Given the description of an element on the screen output the (x, y) to click on. 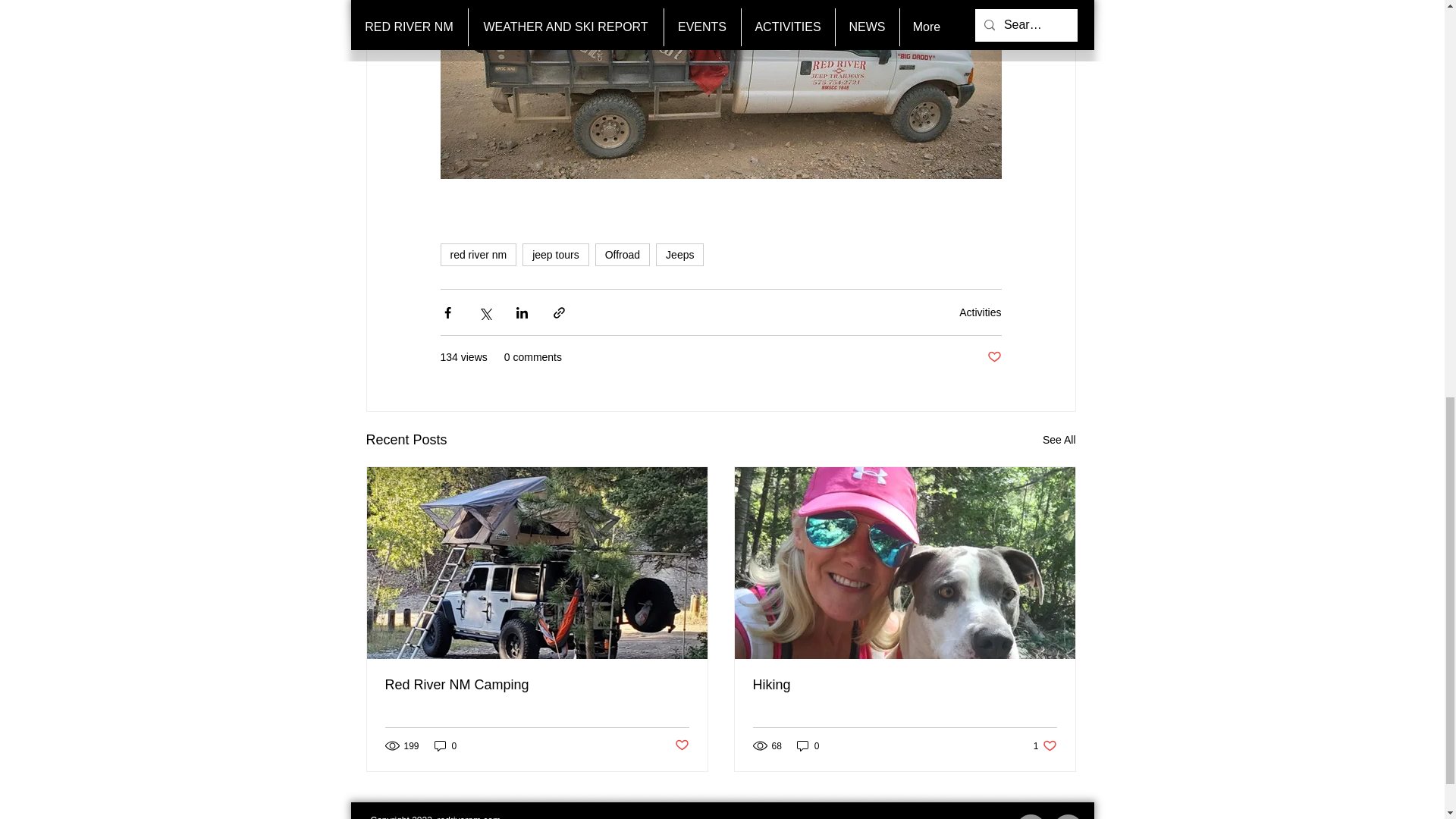
Activities (1045, 745)
Offroad (980, 312)
Post not marked as liked (622, 254)
See All (994, 357)
0 (1058, 440)
Post not marked as liked (807, 745)
Hiking (681, 745)
Red River NM Camping (904, 684)
jeep tours (536, 684)
